Given the description of an element on the screen output the (x, y) to click on. 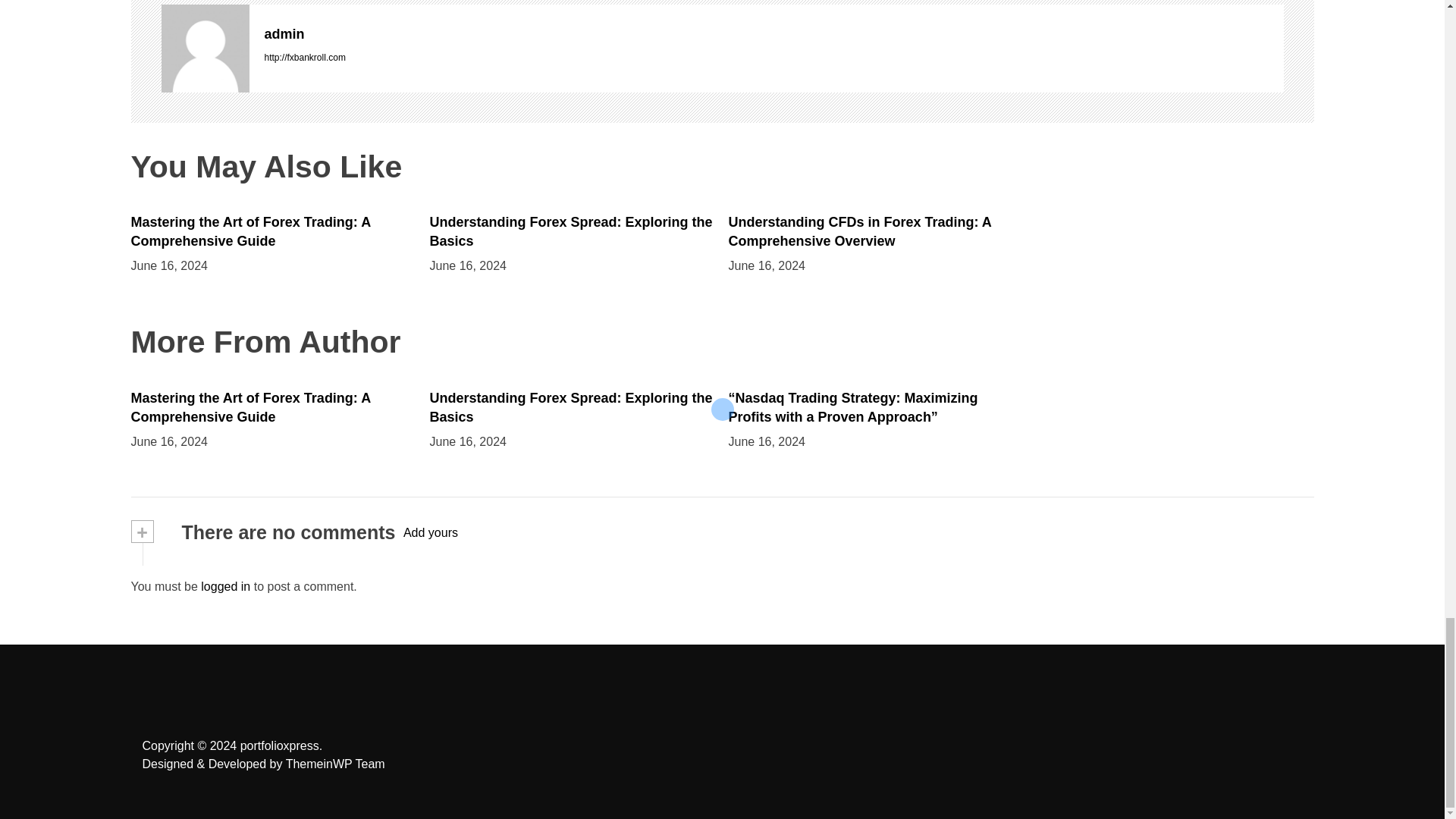
ThemeinWP Team (335, 763)
admin (204, 48)
Mastering the Art of Forex Trading: A Comprehensive Guide (251, 231)
logged in (225, 585)
Understanding Forex Spread: Exploring the Basics (570, 407)
Add yours (430, 533)
Mastering the Art of Forex Trading: A Comprehensive Guide (251, 407)
admin (772, 34)
Understanding Forex Spread: Exploring the Basics (570, 231)
admin (772, 34)
